Given the description of an element on the screen output the (x, y) to click on. 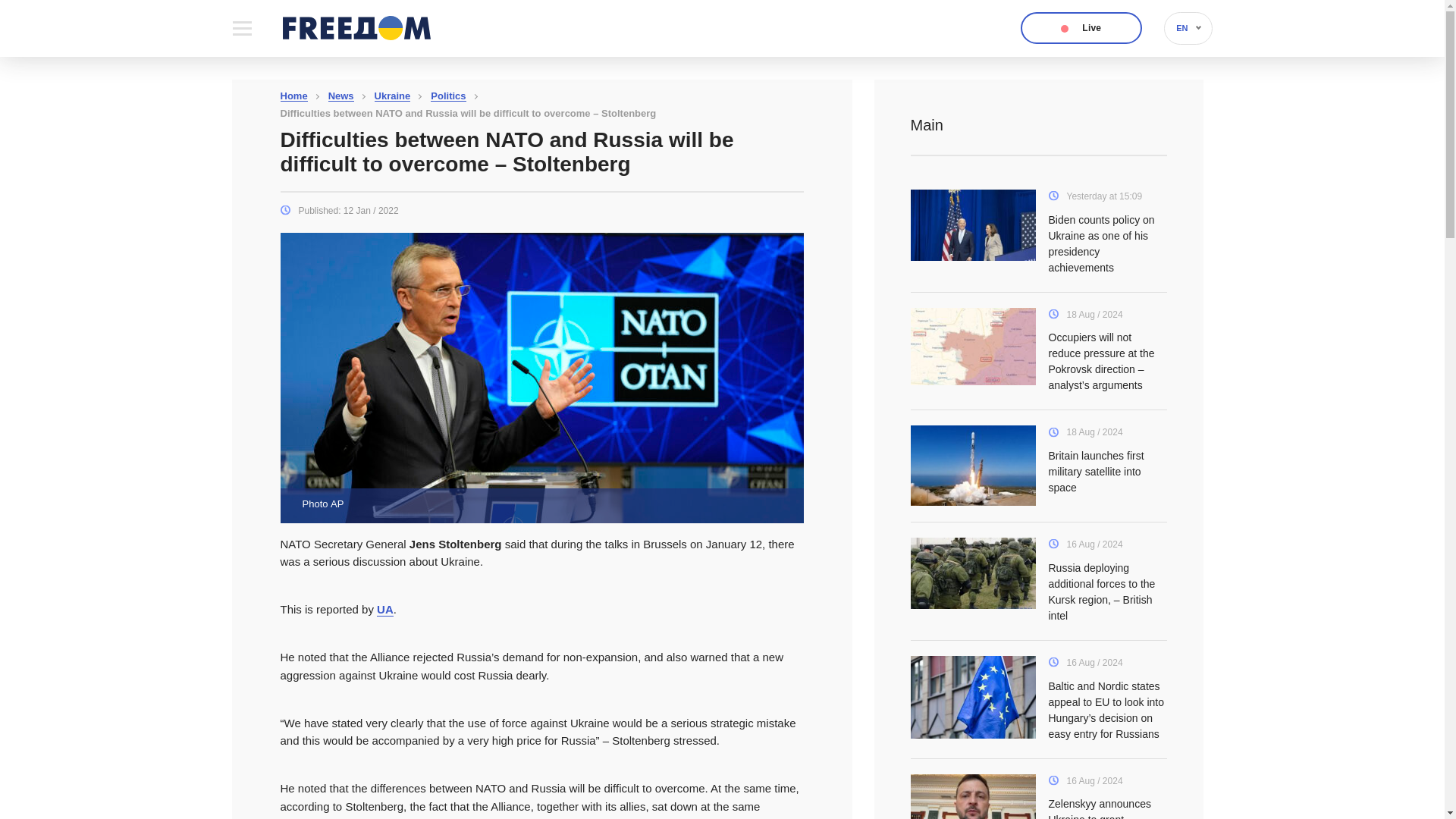
Go to News. (341, 95)
EN (1187, 28)
Ukraine (392, 95)
Go to Politics. (447, 95)
Politics (447, 95)
Go to Ukraine. (392, 95)
Go to Home. (294, 95)
News (341, 95)
UA (385, 609)
Search (915, 8)
